Given the description of an element on the screen output the (x, y) to click on. 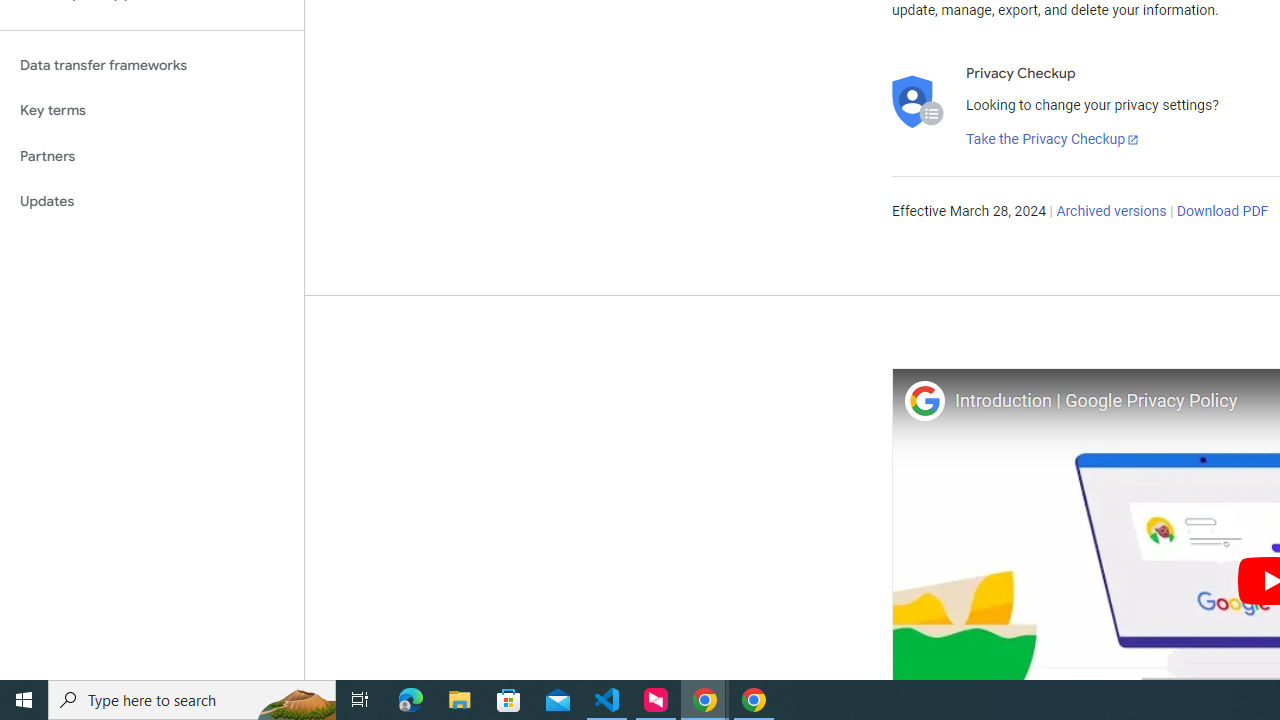
Take the Privacy Checkup (1053, 140)
Partners (152, 156)
Photo image of Google (924, 400)
Download PDF (1222, 212)
Key terms (152, 110)
Archived versions (1111, 212)
Updates (152, 201)
Data transfer frameworks (152, 65)
